Given the description of an element on the screen output the (x, y) to click on. 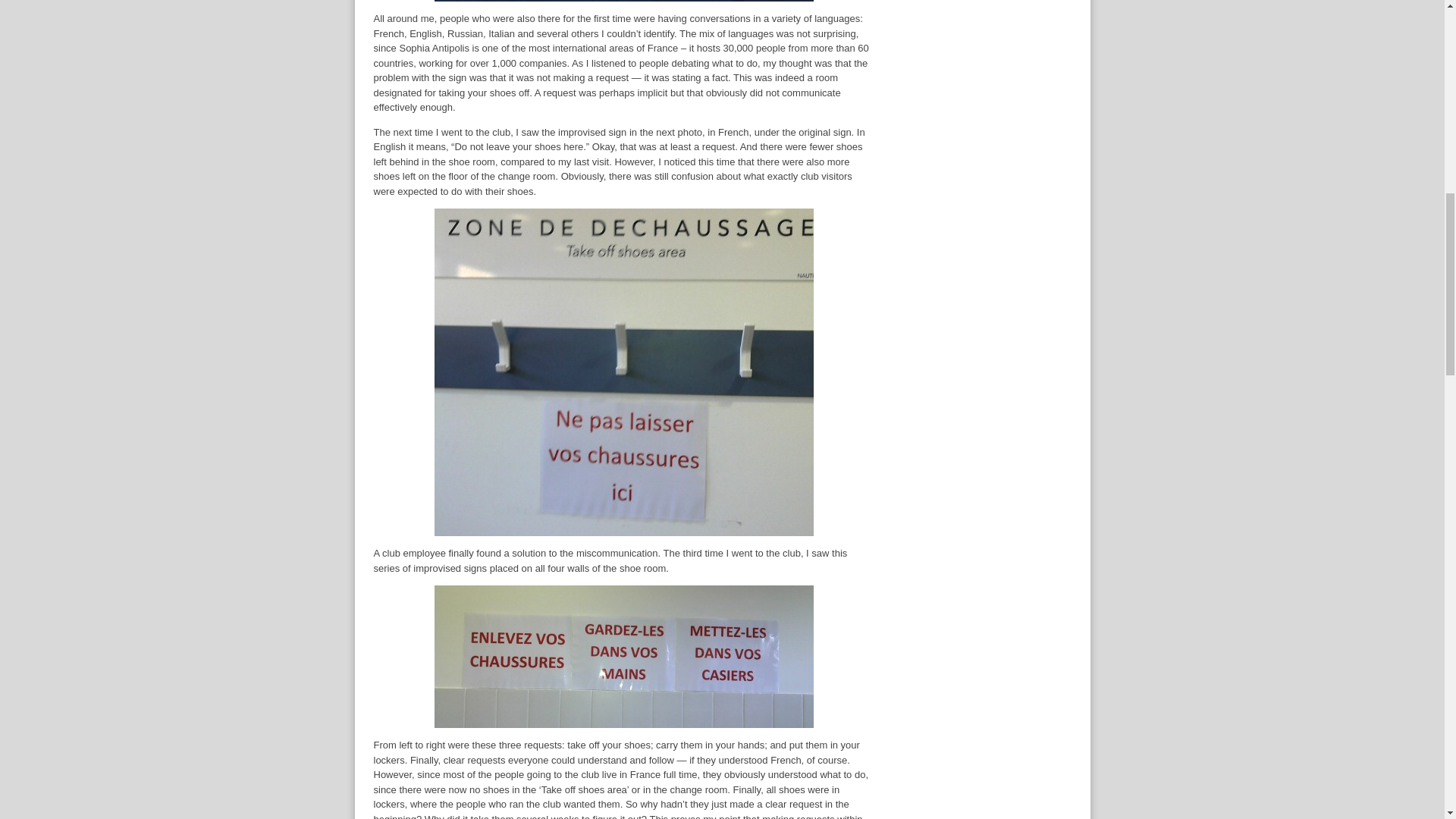
shoe2 (622, 372)
shoe3 (622, 656)
